Given the description of an element on the screen output the (x, y) to click on. 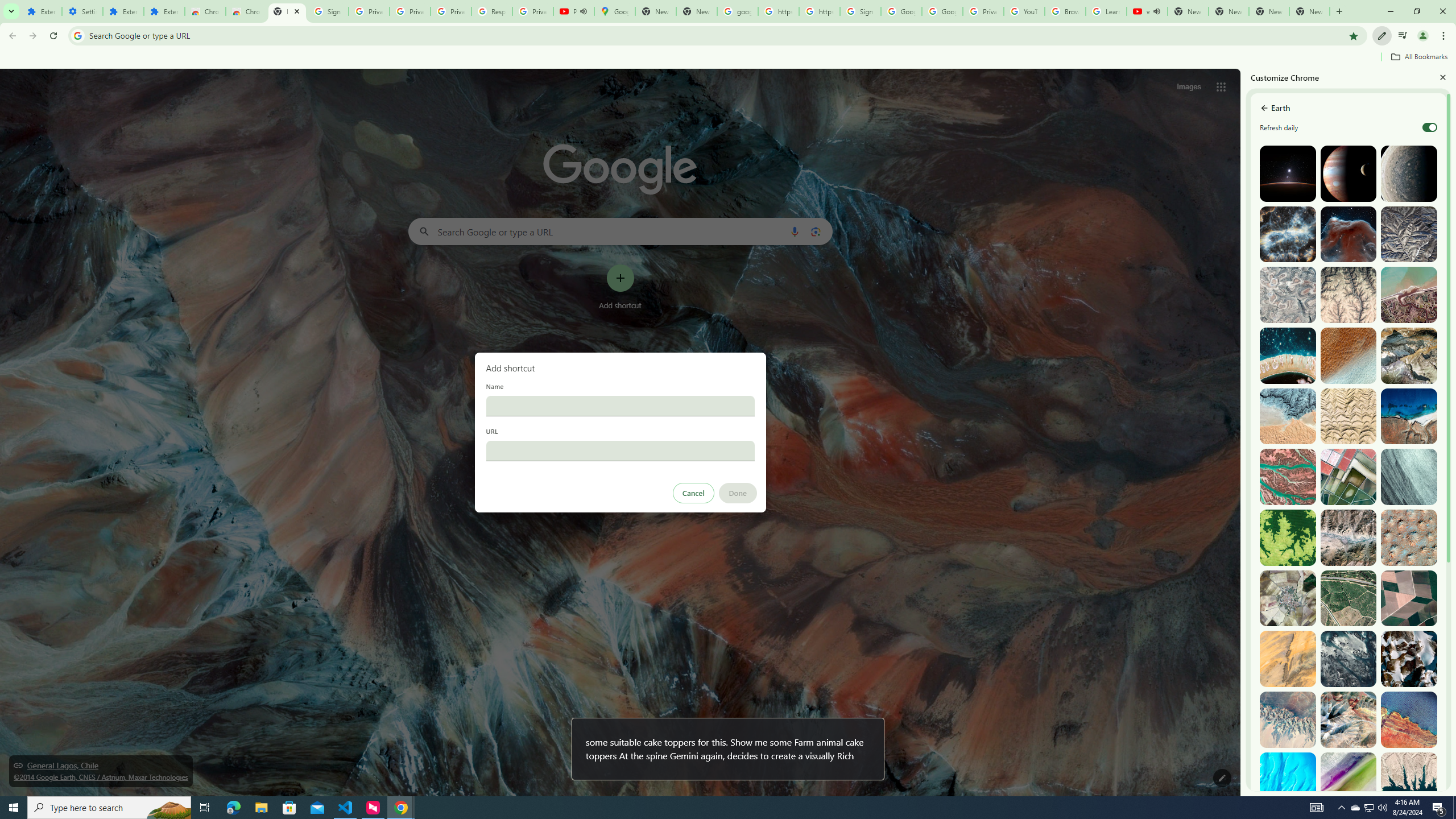
YouTube (1023, 11)
New Tab (1309, 11)
Cancel (693, 493)
Utrera, Spain (1408, 598)
Hardap, Namibia (1287, 416)
All Bookmarks (1418, 56)
Atar, Mauritania (1287, 658)
Extensions (41, 11)
Control your music, videos, and more (1402, 35)
Photo by NASA Image Library (1348, 233)
Kelan, Shanxi, China (1408, 233)
Sanaag, Somalia (1348, 294)
